Given the description of an element on the screen output the (x, y) to click on. 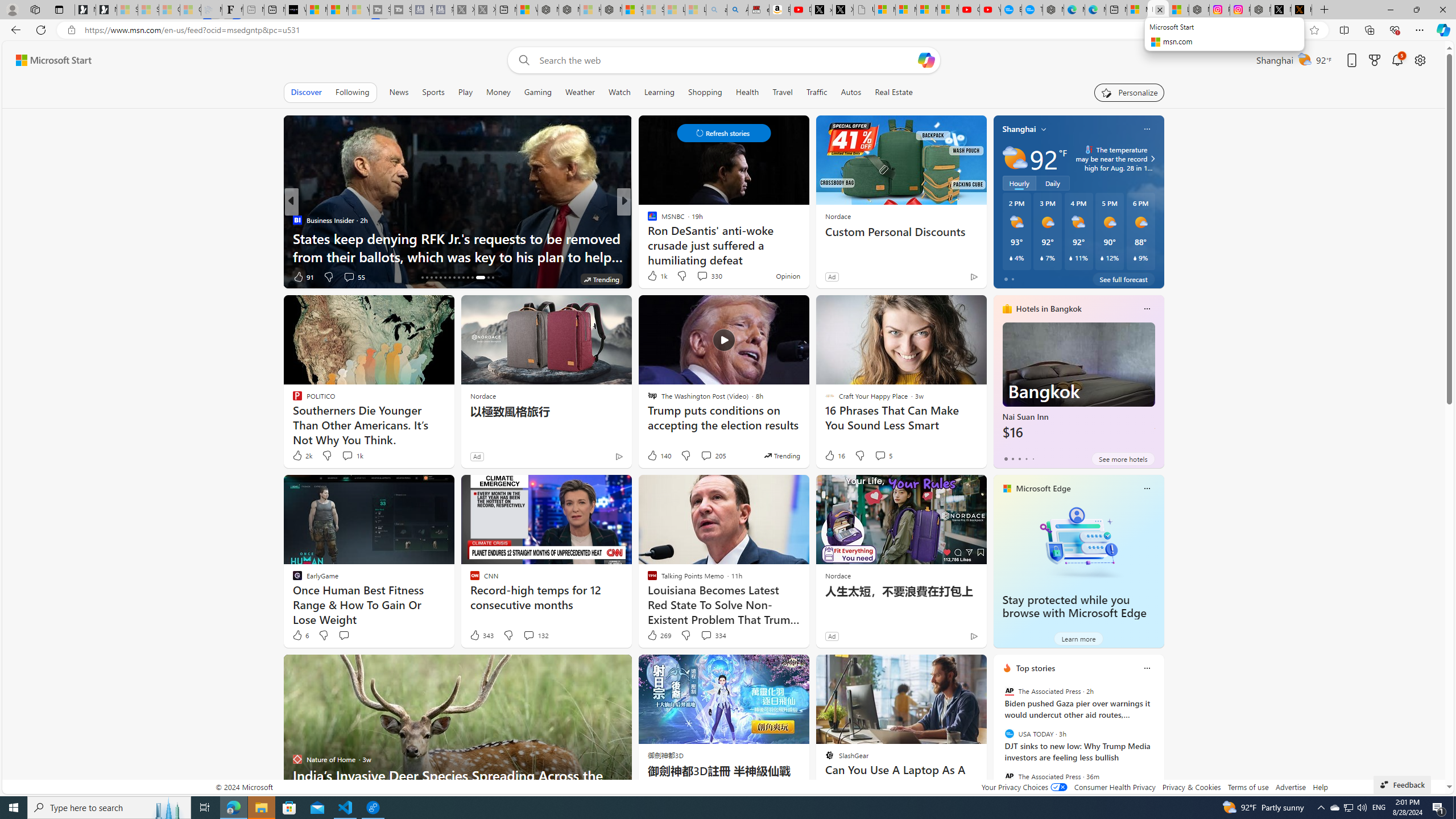
AutomationID: tab-30 (492, 277)
View comments 205 Comment (705, 455)
Travel (782, 92)
269 Like (658, 634)
16 Like (834, 455)
Money (498, 92)
tab-4 (1032, 458)
Real Estate (893, 92)
View comments 330 Comment (708, 275)
The Associated Press (1008, 775)
